Given the description of an element on the screen output the (x, y) to click on. 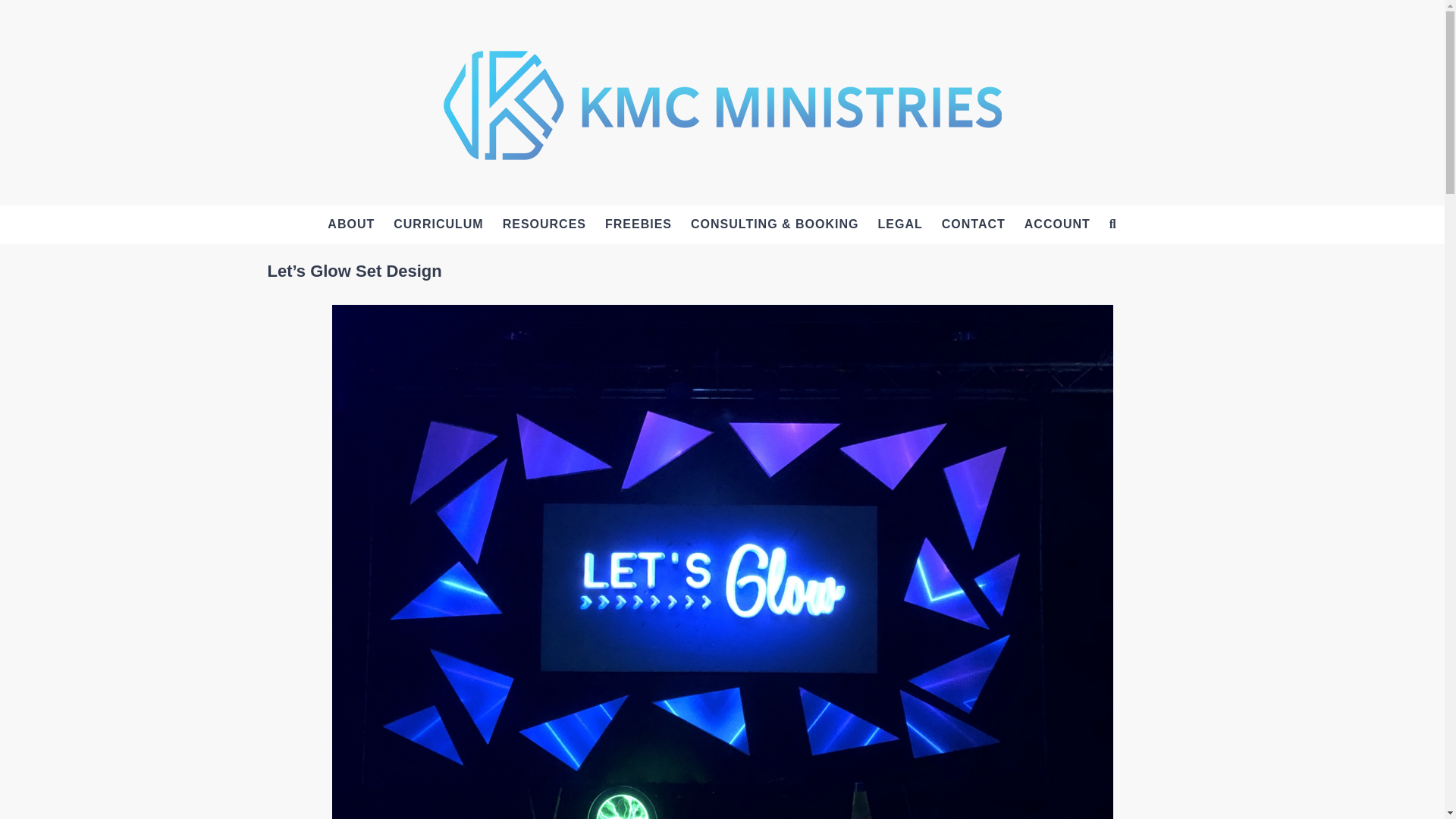
LEGAL (899, 224)
ACCOUNT (1056, 224)
FREEBIES (638, 224)
CURRICULUM (438, 224)
CONTACT (972, 224)
RESOURCES (544, 224)
ABOUT (351, 224)
